Given the description of an element on the screen output the (x, y) to click on. 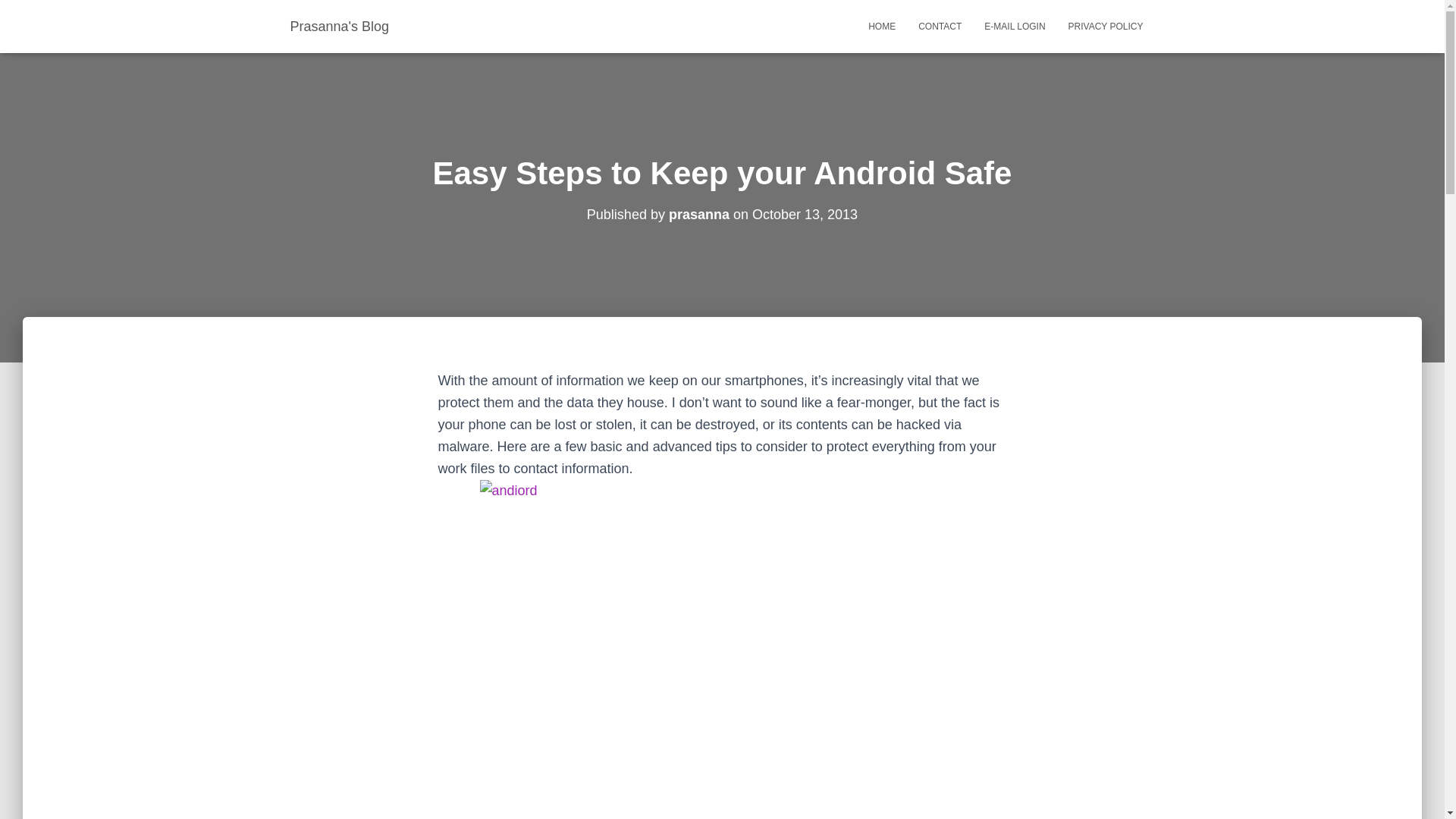
Prasanna's Blog (340, 26)
E-MAIL LOGIN (1014, 26)
PRIVACY POLICY (1105, 26)
prasanna (698, 214)
Home (882, 26)
CONTACT (939, 26)
Contact (939, 26)
Prasanna's Blog (340, 26)
E-Mail Login (1014, 26)
HOME (882, 26)
